Given the description of an element on the screen output the (x, y) to click on. 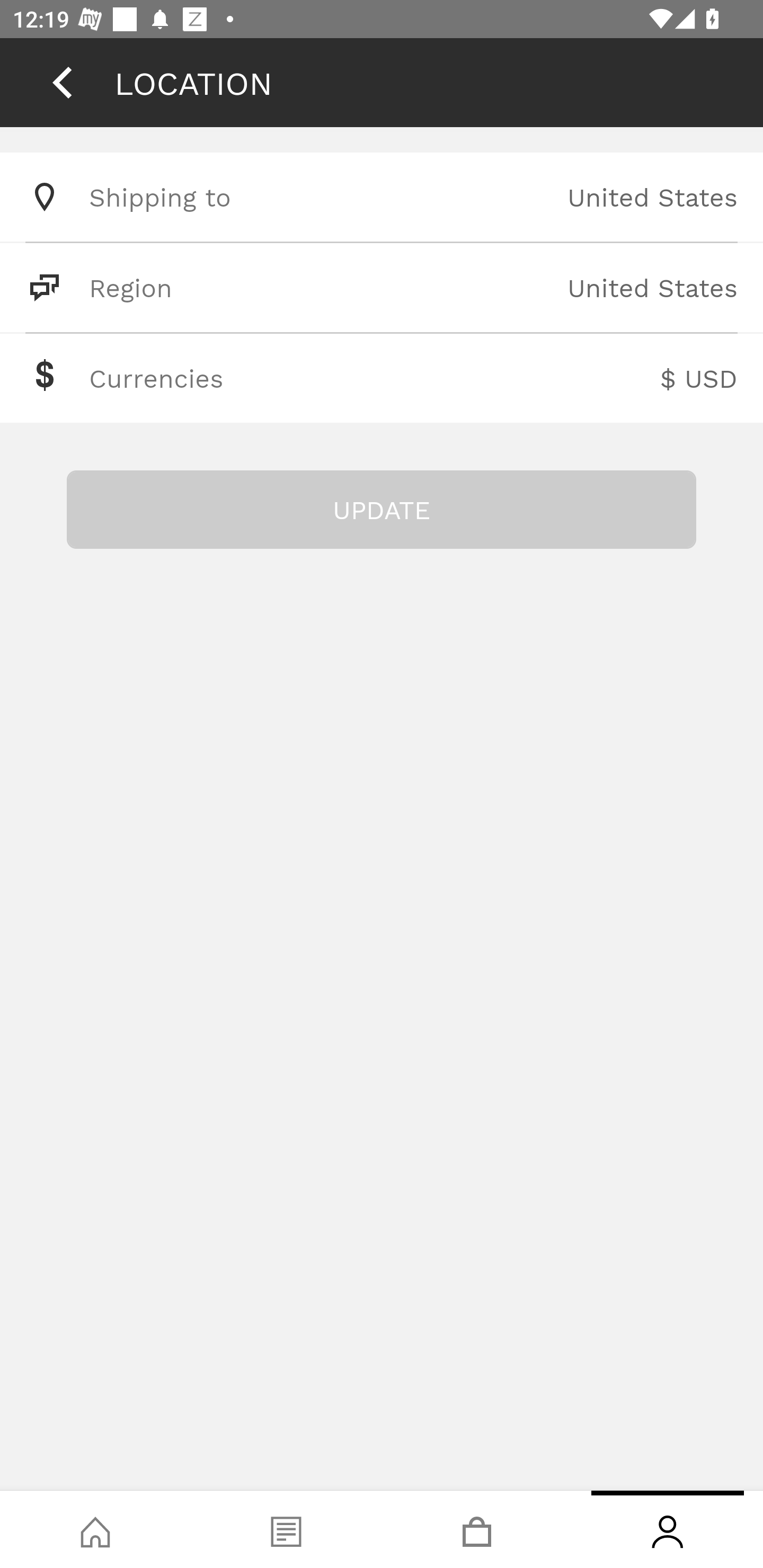
ACCOUNT, back (61, 82)
Shipping to Shipping to United States (381, 196)
Region Region United States (381, 287)
Currencies Currencies $ USD (381, 378)
Update UPDATE (381, 509)
Shop, tab, 1 of 4 (95, 1529)
Blog, tab, 2 of 4 (285, 1529)
Basket, tab, 3 of 4 (476, 1529)
Account, tab, 4 of 4 (667, 1529)
